Given the description of an element on the screen output the (x, y) to click on. 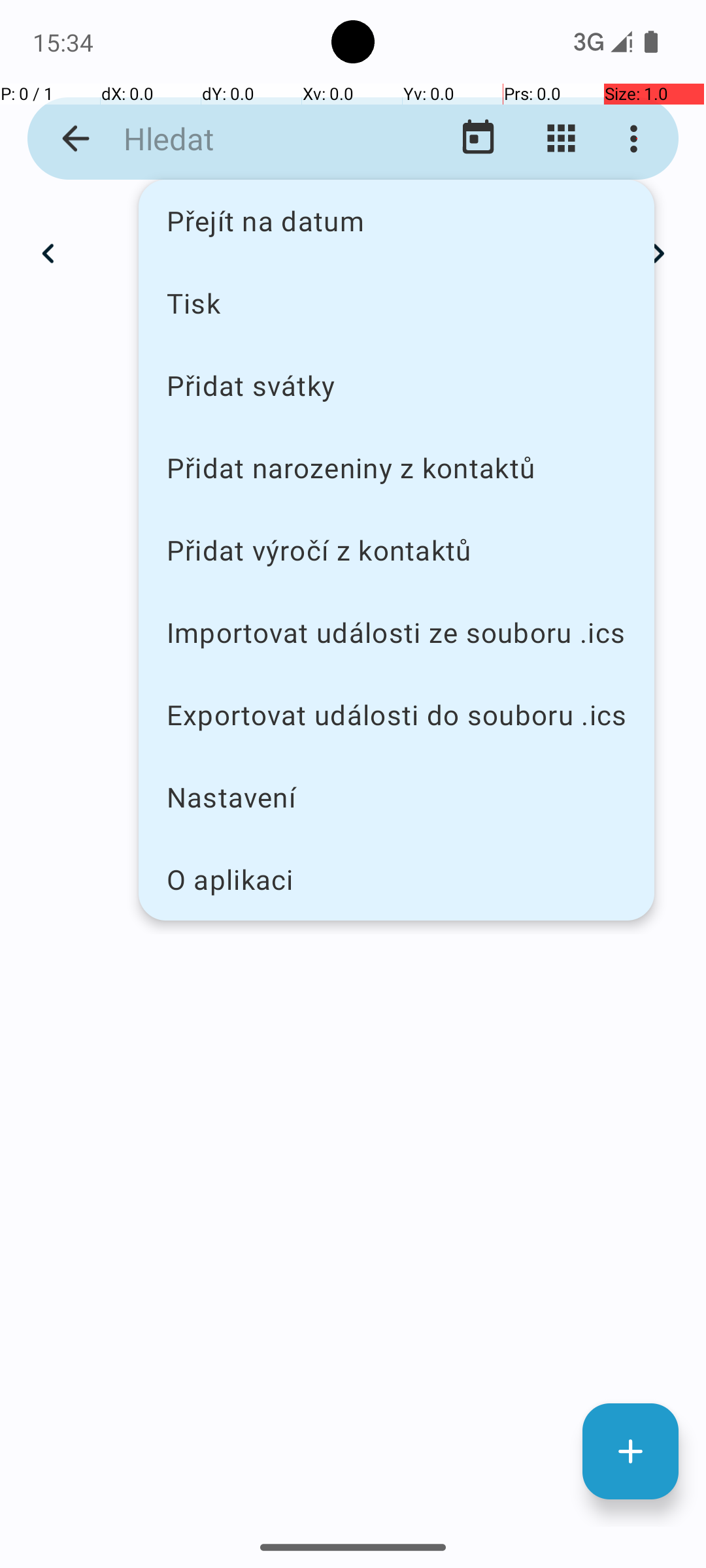
Přejít na datum Element type: android.widget.TextView (396, 220)
Tisk Element type: android.widget.TextView (396, 302)
Přidat svátky Element type: android.widget.TextView (396, 384)
Přidat narozeniny z kontaktů Element type: android.widget.TextView (396, 467)
Přidat výročí z kontaktů Element type: android.widget.TextView (396, 549)
Importovat události ze souboru .ics Element type: android.widget.TextView (396, 631)
Exportovat události do souboru .ics Element type: android.widget.TextView (396, 714)
Nastavení Element type: android.widget.TextView (396, 796)
O aplikaci Element type: android.widget.TextView (396, 878)
